Given the description of an element on the screen output the (x, y) to click on. 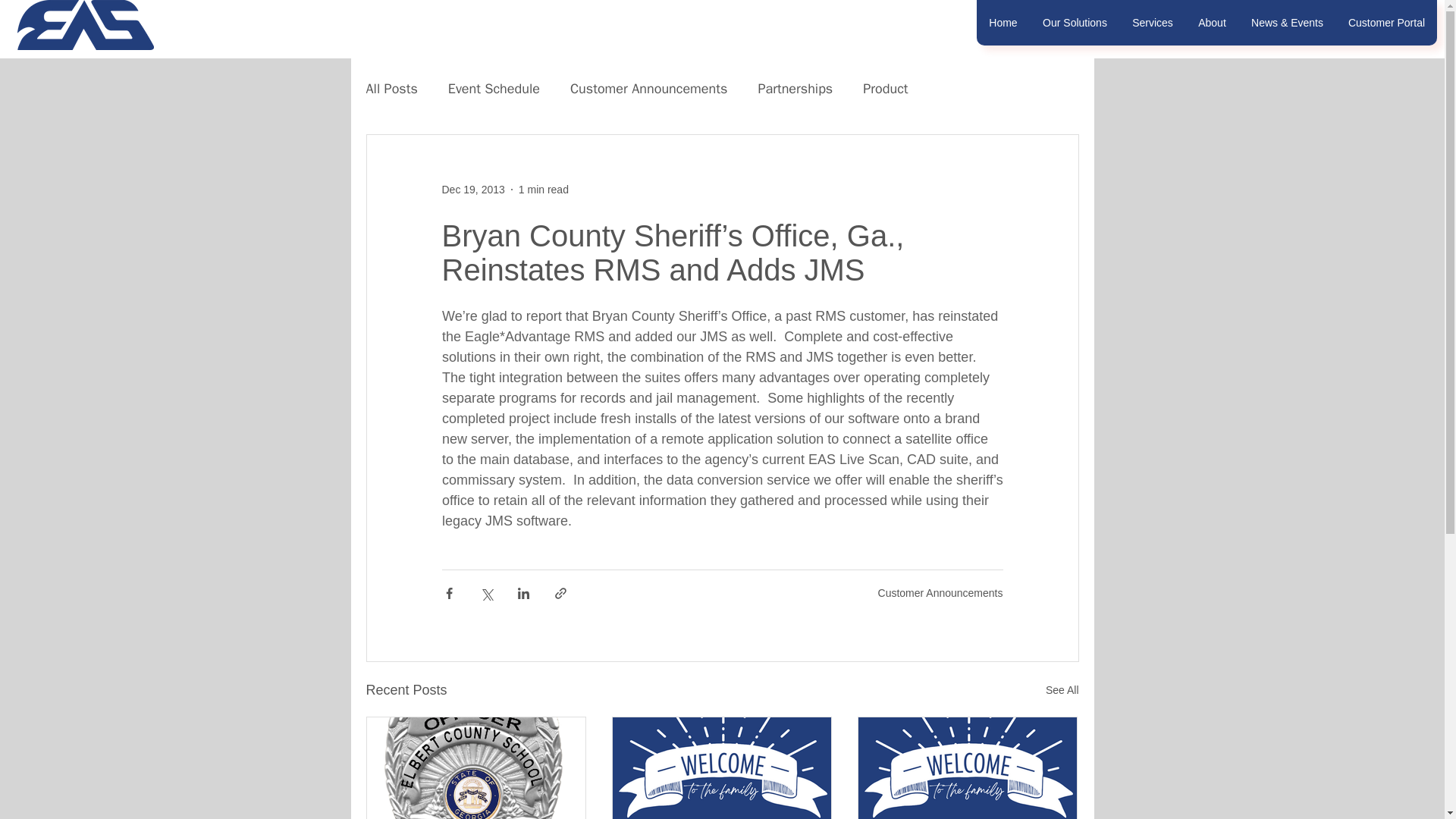
Customer Announcements (940, 592)
Product (885, 88)
Services (1152, 22)
Dec 19, 2013 (472, 189)
All Posts (390, 88)
Home (1002, 22)
Our Solutions (1074, 22)
See All (1061, 690)
1 min read (543, 189)
Event Schedule (494, 88)
Customer Announcements (648, 88)
Partnerships (794, 88)
Customer Portal (1386, 22)
About (1212, 22)
